Given the description of an element on the screen output the (x, y) to click on. 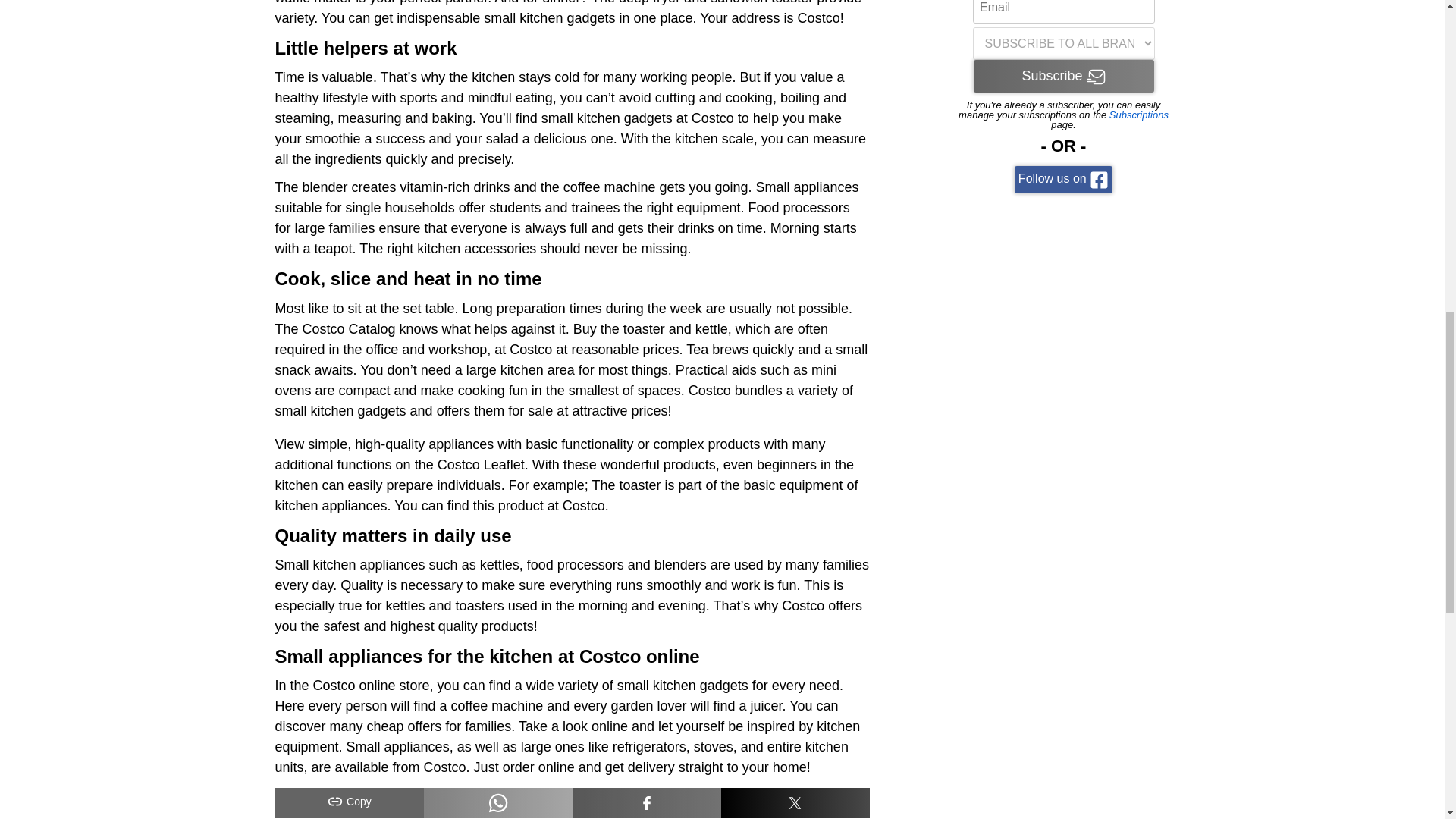
Follow us on (1063, 179)
Subscriptions (1139, 114)
Subscribe (1064, 75)
Share on X (794, 802)
Copy (349, 802)
Share on Facebook (646, 802)
Share on Whatsapp (497, 802)
